Given the description of an element on the screen output the (x, y) to click on. 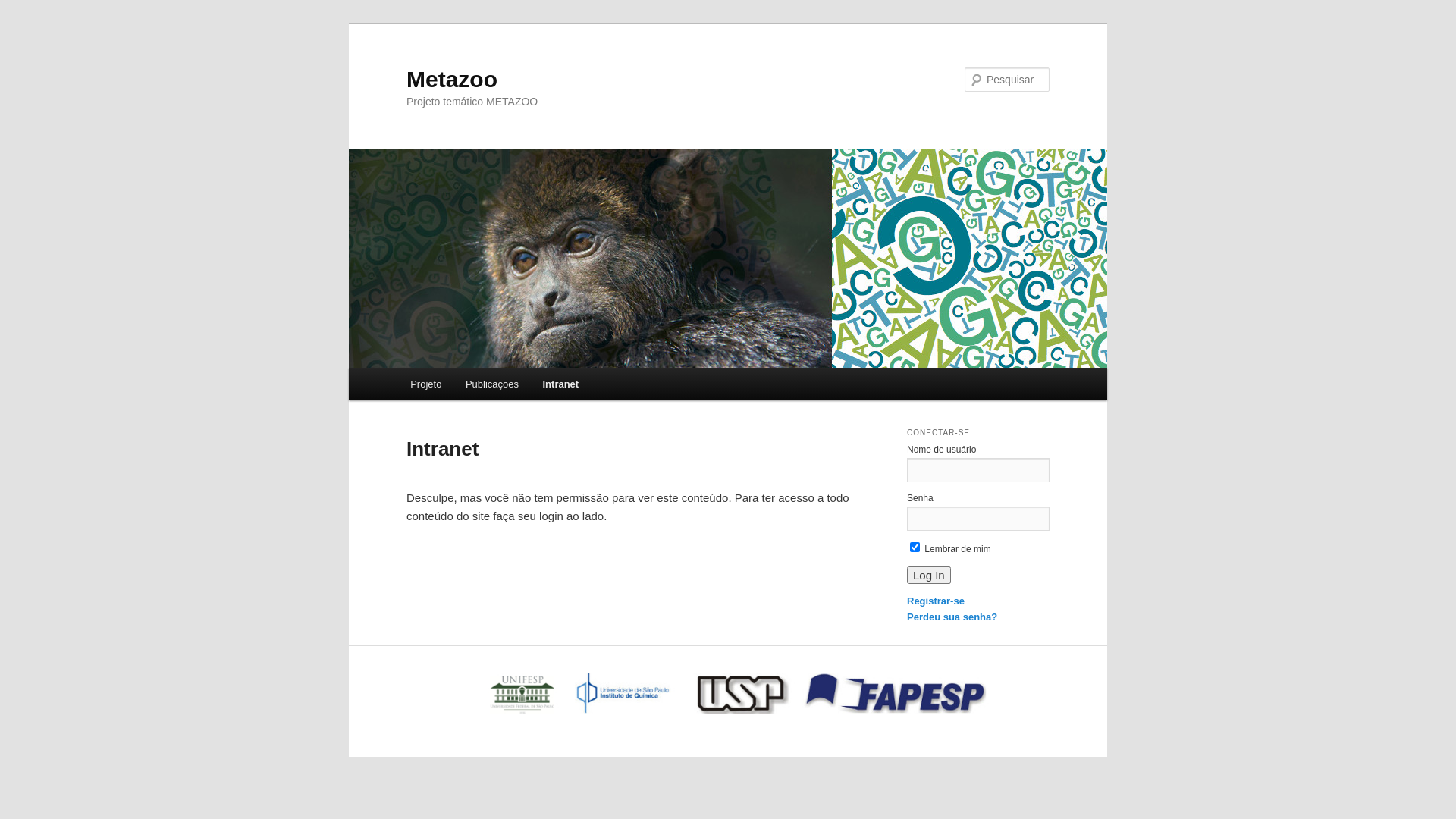
Projeto Element type: text (425, 383)
Pesquisar Element type: text (31, 8)
Registrar-se Element type: text (935, 600)
Perdeu sua senha? Element type: text (951, 616)
Metazoo Element type: text (451, 78)
Log In Element type: text (928, 574)
Intranet Element type: text (560, 383)
